Given the description of an element on the screen output the (x, y) to click on. 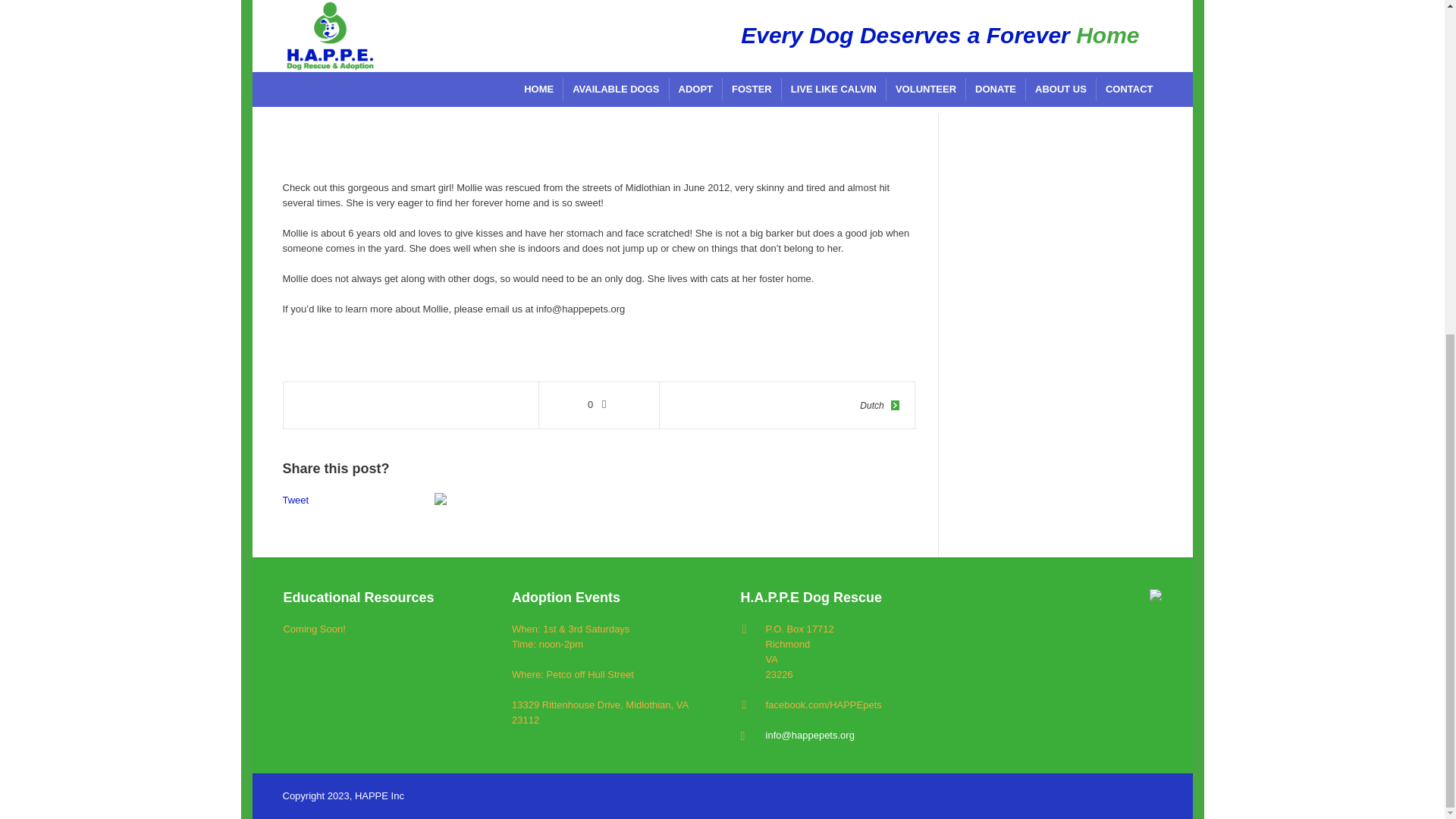
Dutch (879, 405)
Tweet (295, 500)
Mollie8 (520, 42)
Mollie7 (675, 42)
Mollie9 (831, 42)
Mollie10 (366, 42)
0 (599, 404)
